Given the description of an element on the screen output the (x, y) to click on. 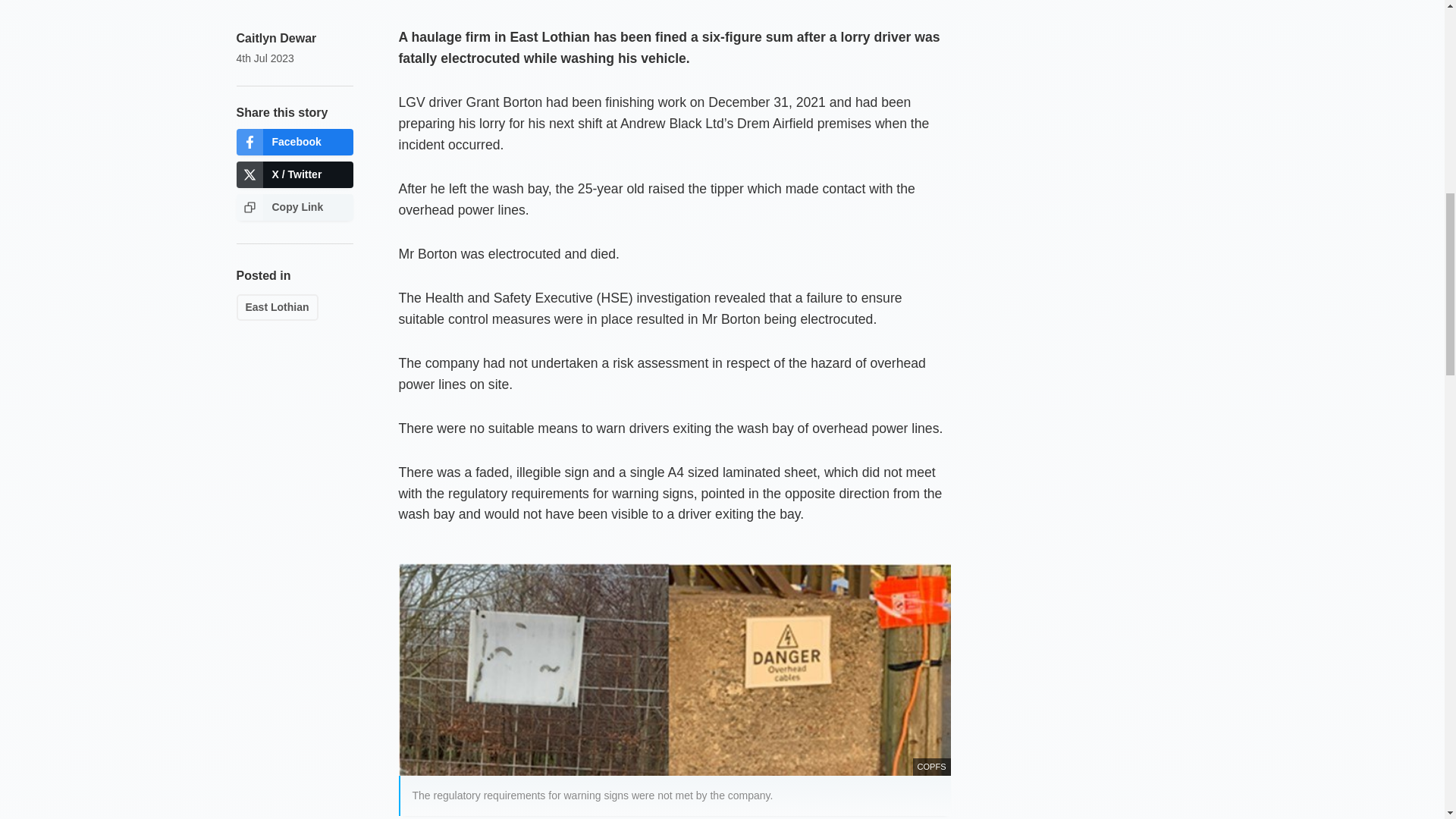
Caitlyn Dewar (276, 38)
Facebook (294, 141)
